Given the description of an element on the screen output the (x, y) to click on. 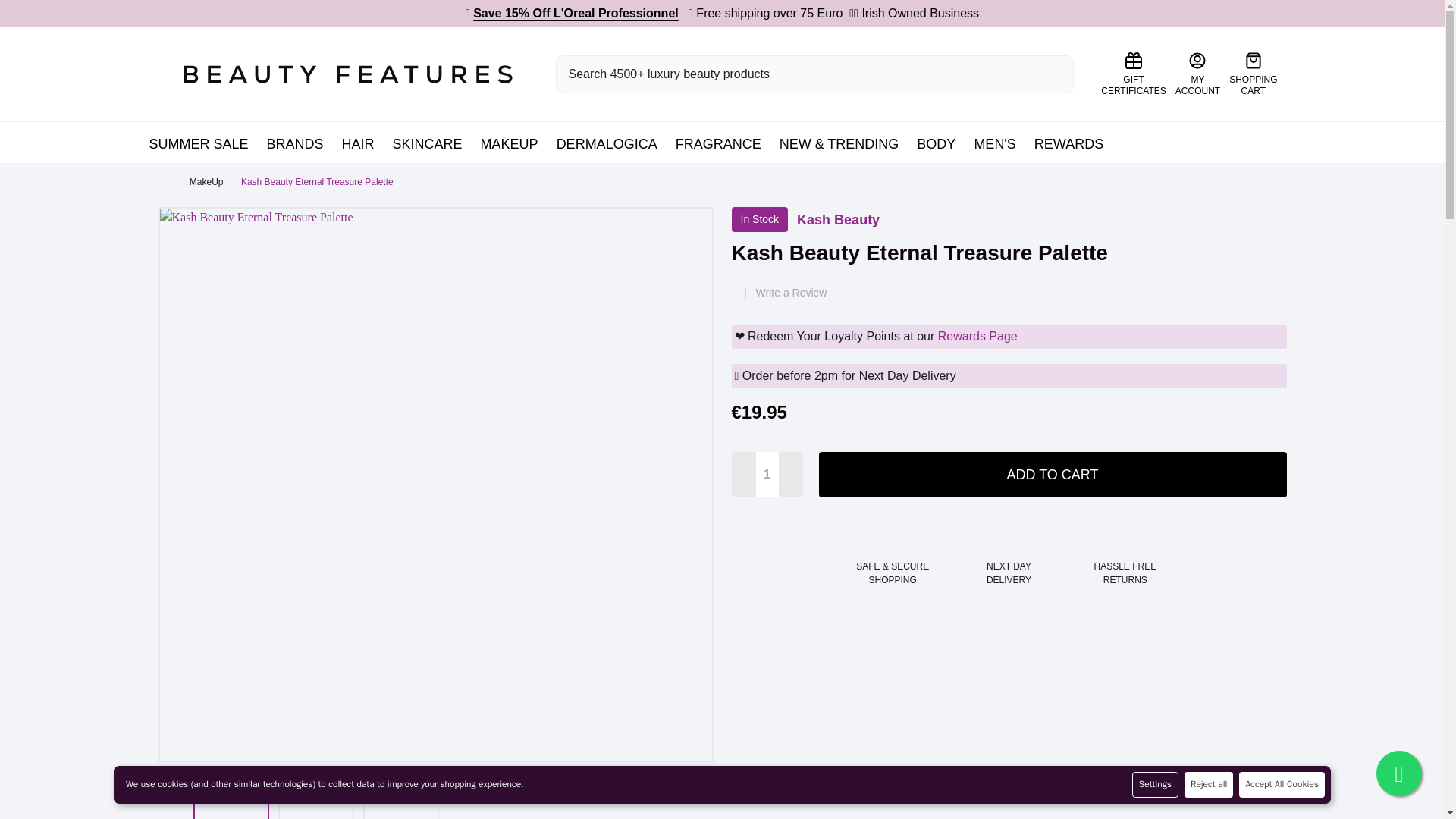
BeautyFeatures.ie (1252, 74)
SEARCH (1197, 74)
SUMMER SALE (347, 73)
